Given the description of an element on the screen output the (x, y) to click on. 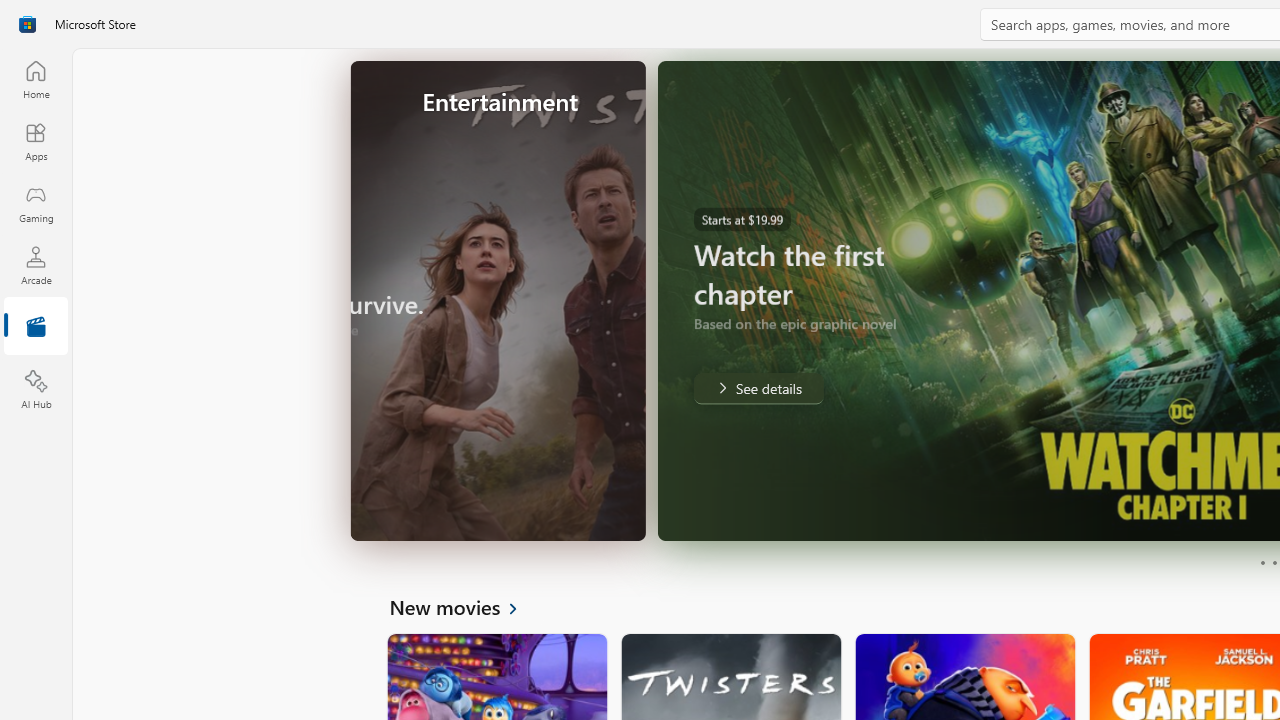
Gaming (35, 203)
AutomationID: Image (815, 300)
Page 1 (1261, 562)
See all  New movies (464, 606)
Class: Image (27, 24)
Home (35, 79)
Entertainment (35, 327)
Page 2 (1274, 562)
AI Hub (35, 390)
Arcade (35, 265)
Apps (35, 141)
